Given the description of an element on the screen output the (x, y) to click on. 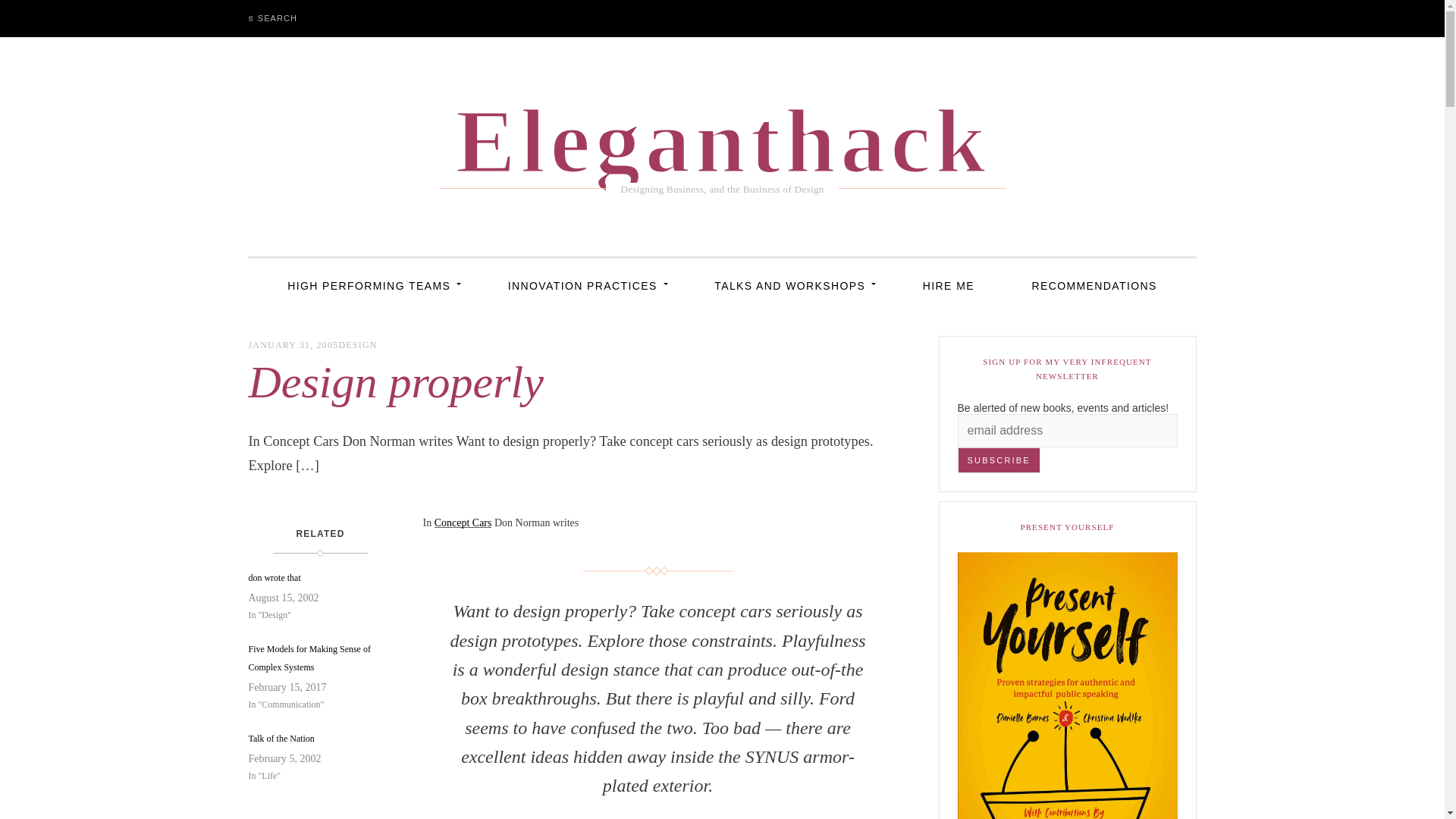
Five Models for Making Sense of Complex Systems (312, 657)
don wrote that (312, 577)
SEARCH (271, 18)
Subscribe (999, 460)
JANUARY 31, 2005 (292, 344)
RECOMMENDATIONS (1093, 285)
Eleganthack (722, 136)
TALKS AND WORKSHOPS (789, 285)
Talk of the Nation (312, 738)
Concept Cars (462, 522)
Eleganthack (722, 136)
DESIGN (357, 344)
INNOVATION PRACTICES (582, 285)
HIRE ME (948, 285)
